Given the description of an element on the screen output the (x, y) to click on. 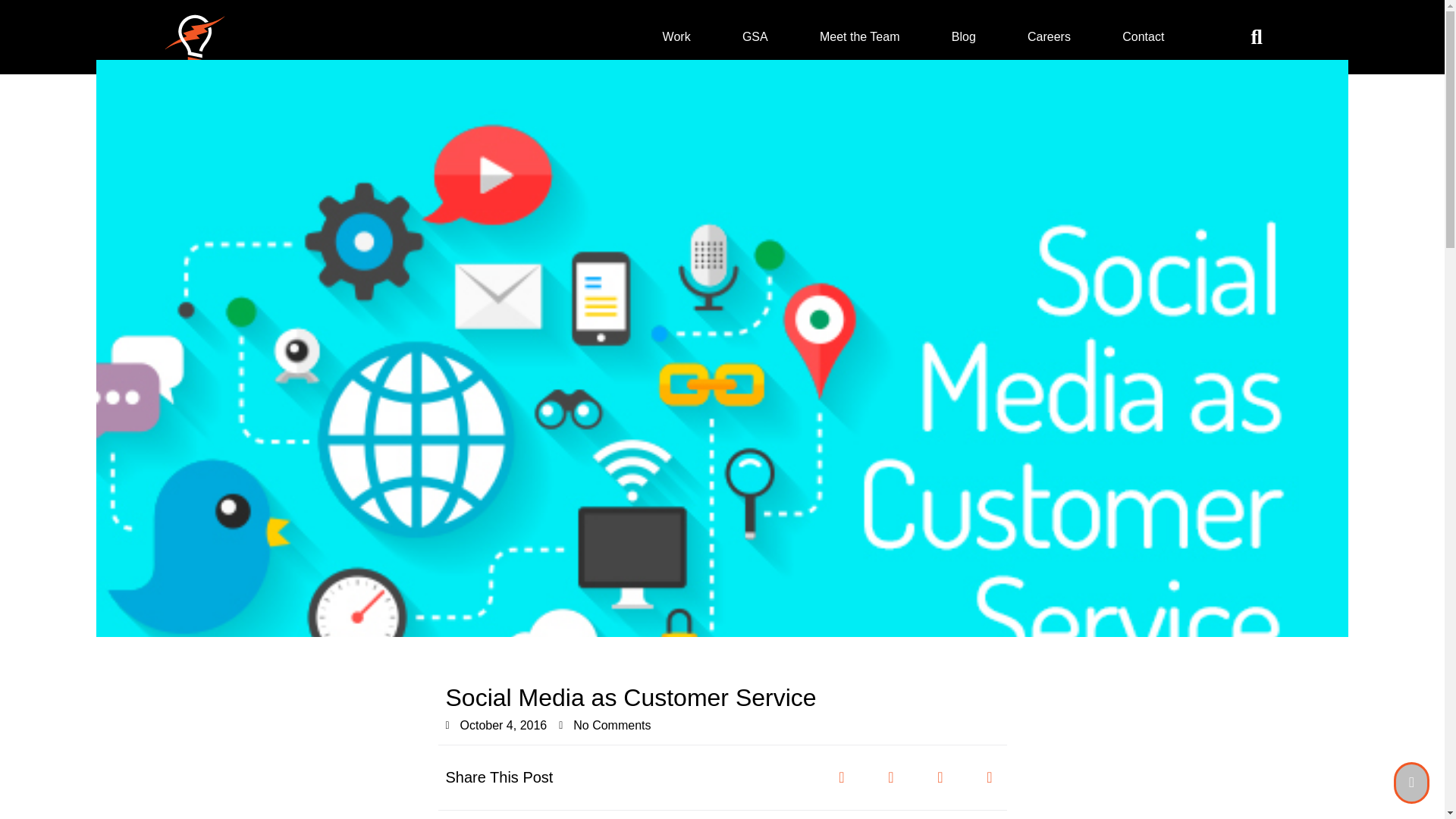
Meet the Team (859, 36)
GSA (754, 36)
October 4, 2016 (496, 725)
Contact (1142, 36)
Careers (1048, 36)
Blog (963, 36)
Work (676, 36)
No Comments (604, 725)
